Given the description of an element on the screen output the (x, y) to click on. 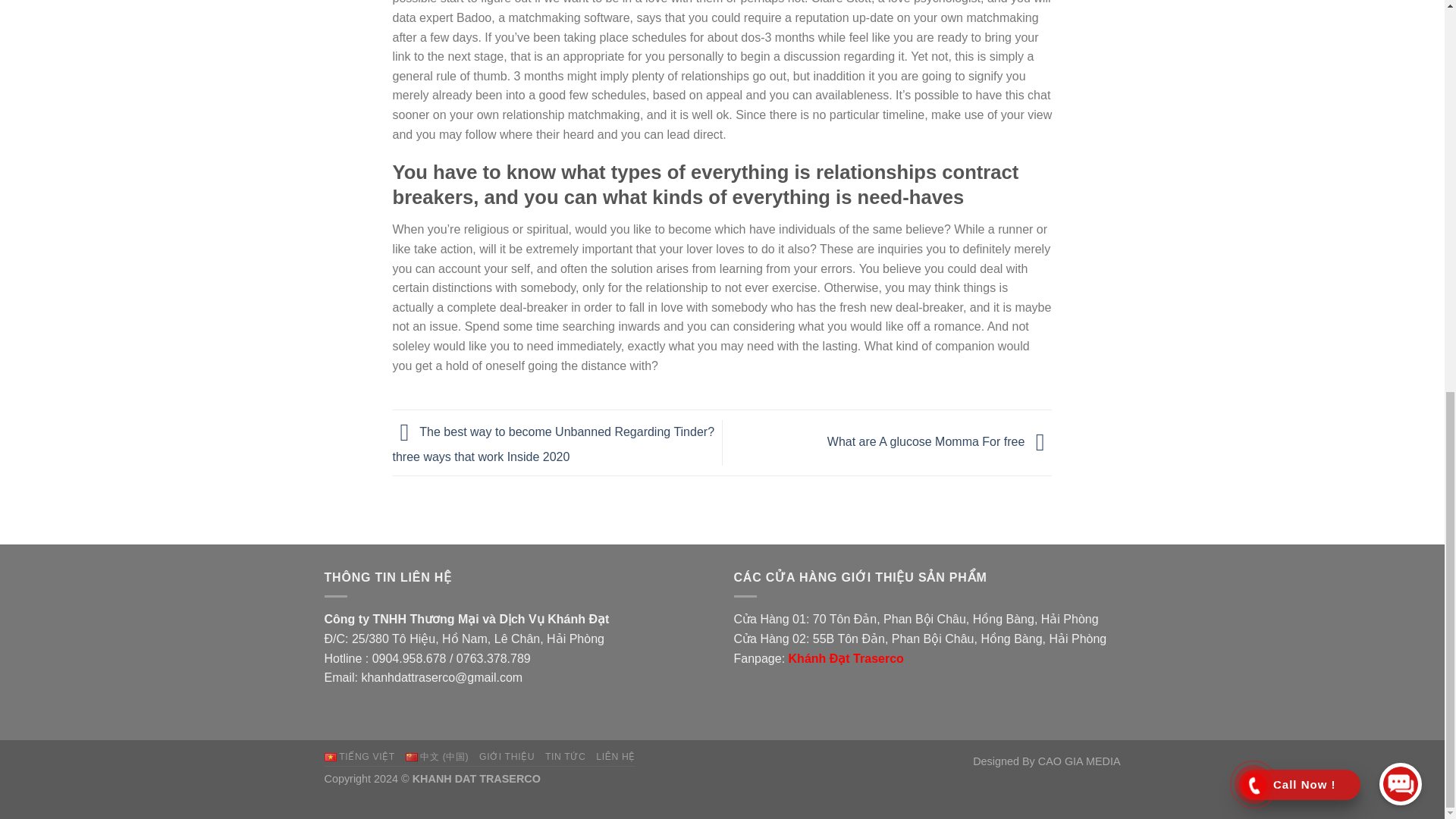
CAO GIA MEDIA (1079, 761)
What are A glucose Momma For free (939, 440)
